Given the description of an element on the screen output the (x, y) to click on. 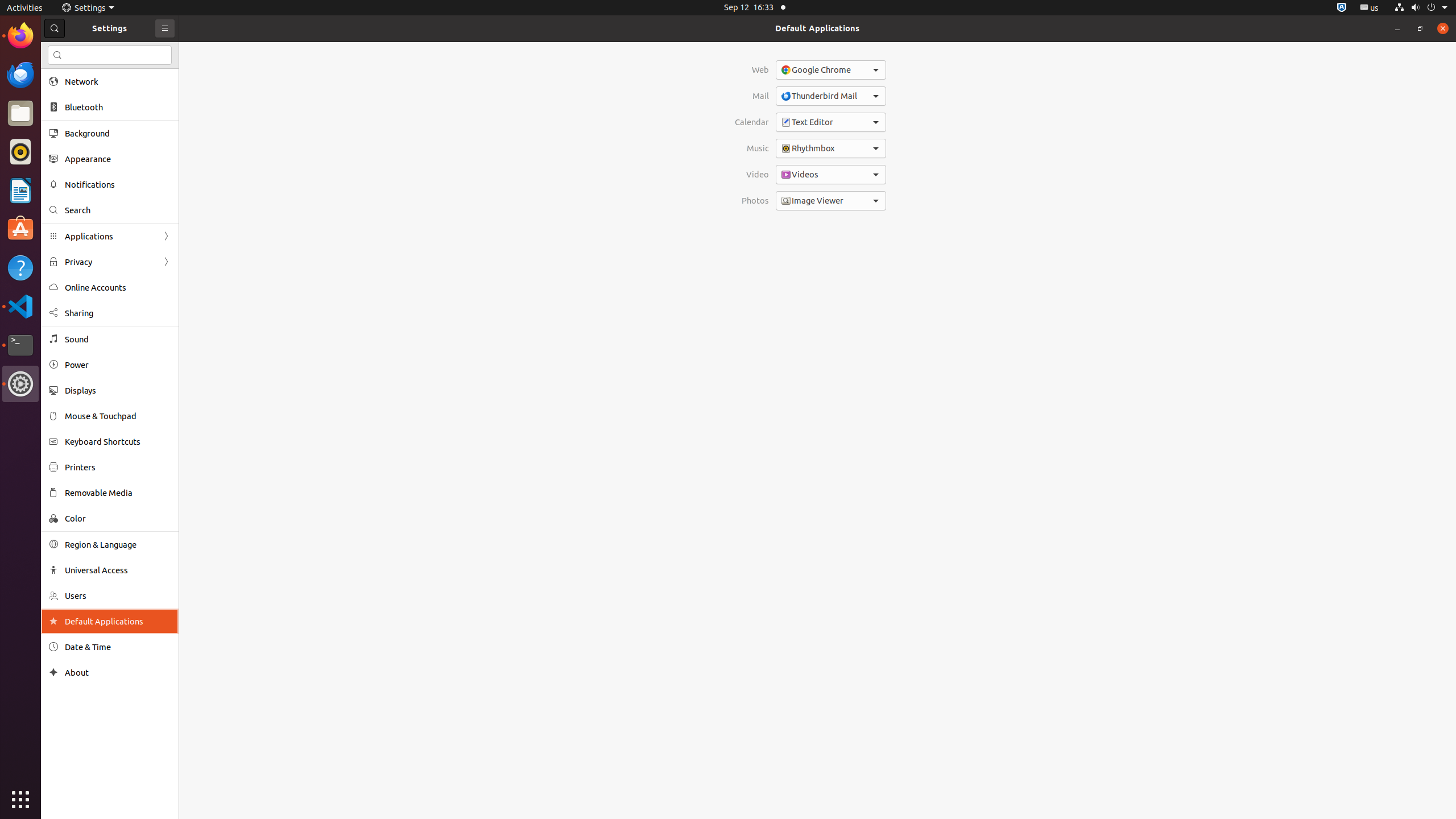
Forward Element type: icon (165, 261)
Power Element type: label (117, 364)
Minimize Element type: push-button (1397, 27)
Color Element type: label (117, 518)
